Given the description of an element on the screen output the (x, y) to click on. 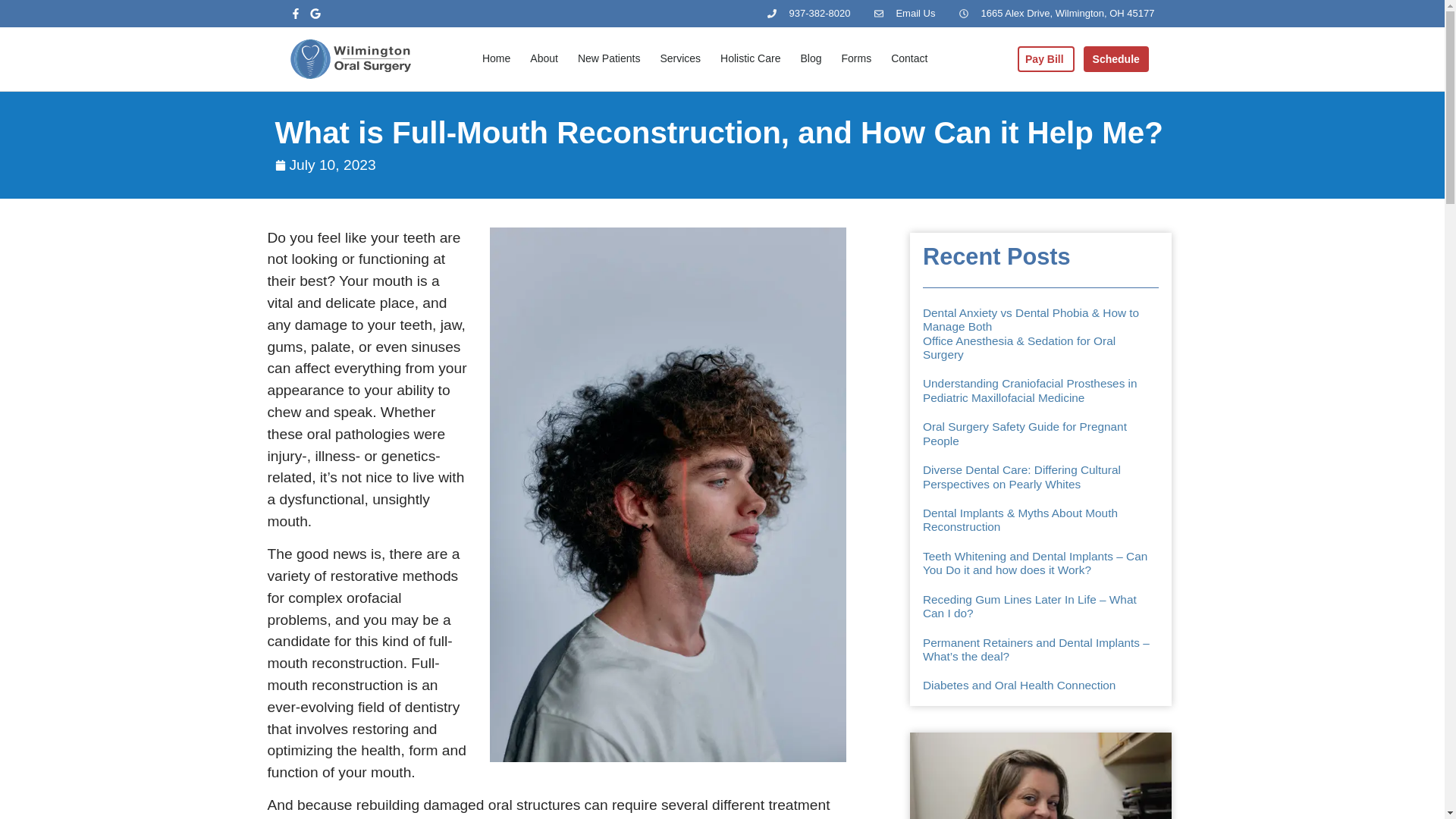
Email Us (904, 13)
1665 Alex Drive, Wilmington, OH 45177 (1056, 13)
Holistic Care (750, 58)
Forms (855, 58)
New Patients (609, 58)
937-382-8020 (808, 13)
Services (679, 58)
